Given the description of an element on the screen output the (x, y) to click on. 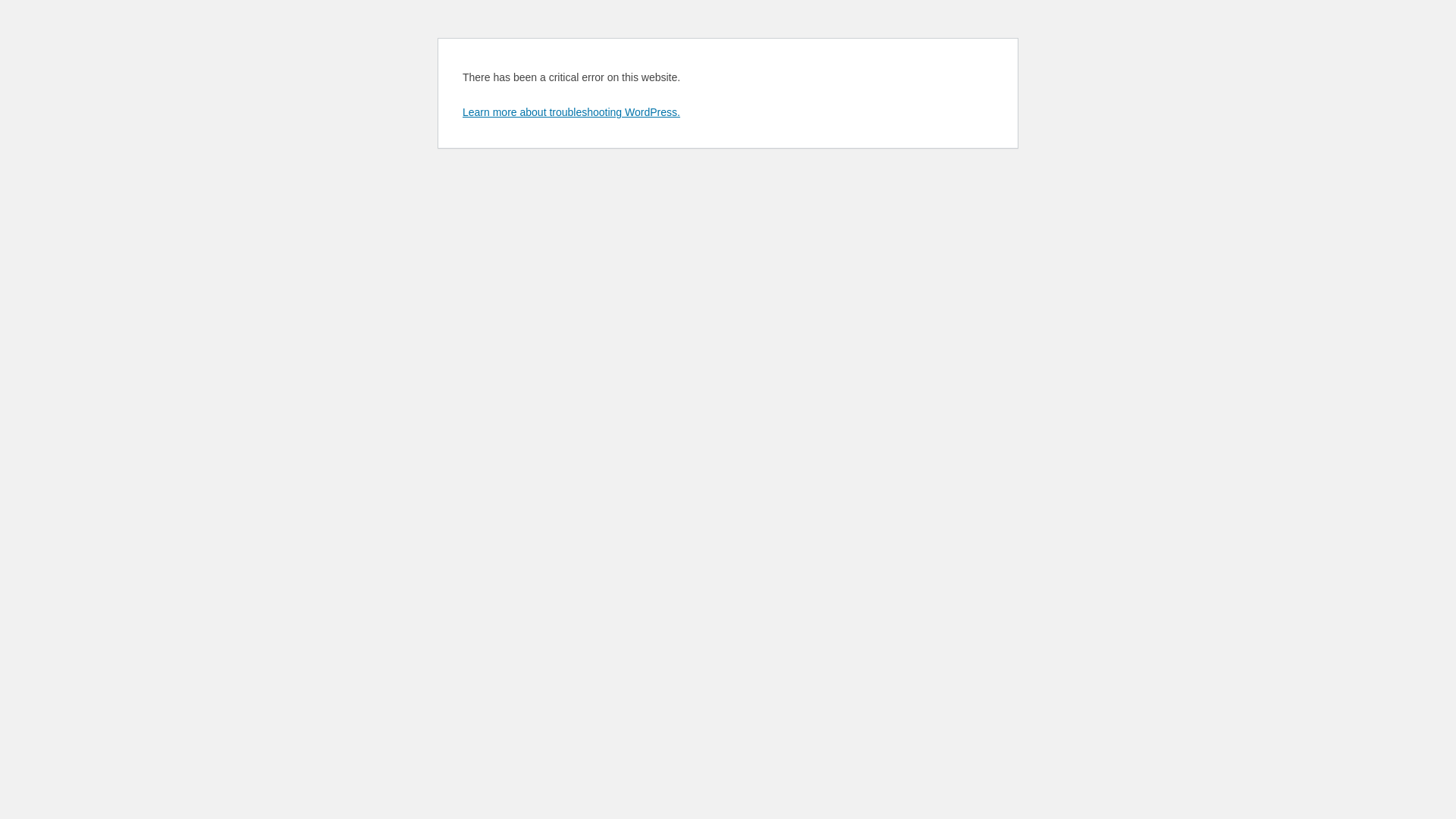
Learn more about troubleshooting WordPress. Element type: text (571, 112)
